Given the description of an element on the screen output the (x, y) to click on. 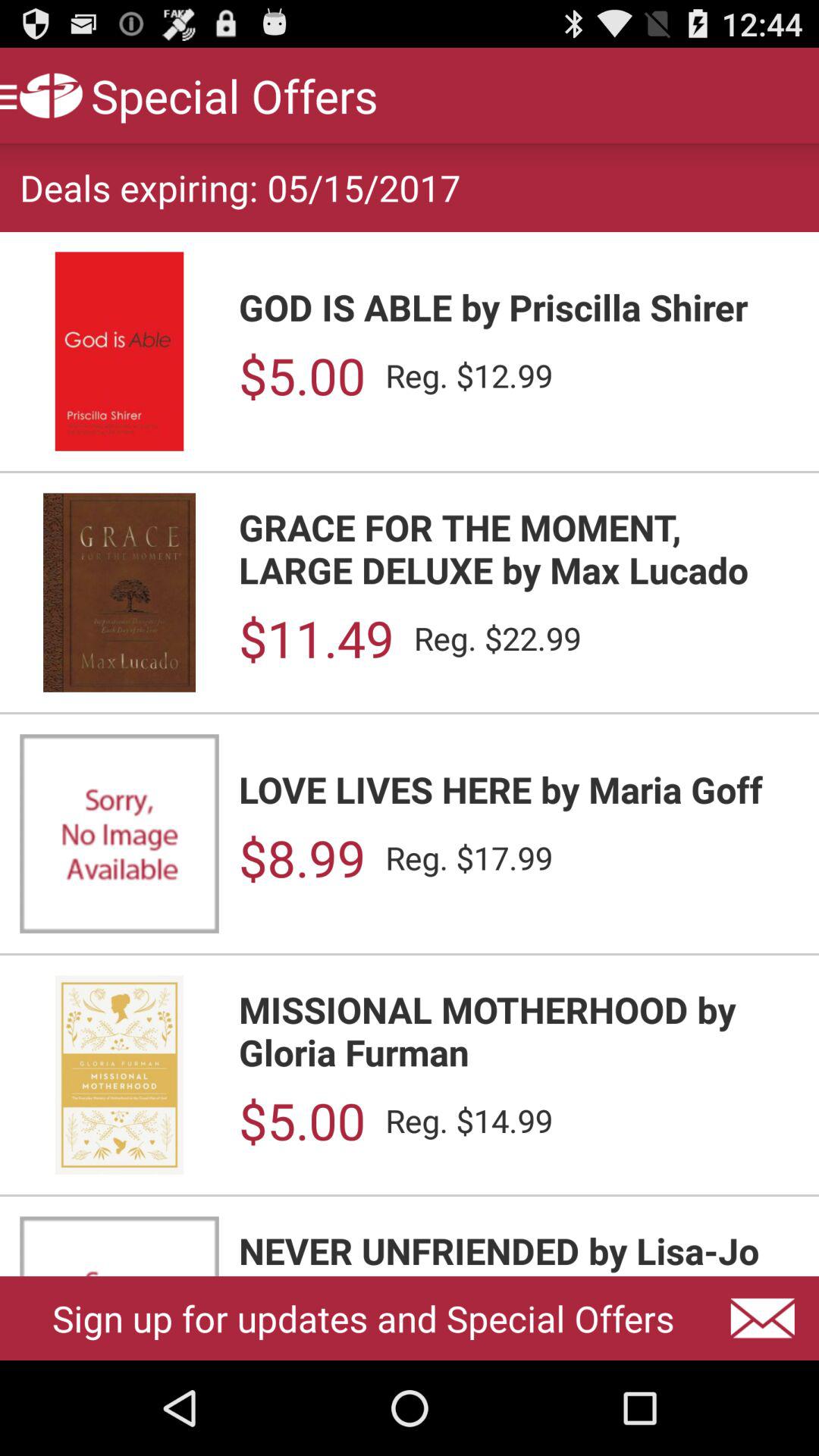
click app below the $5.00 (518, 1251)
